Given the description of an element on the screen output the (x, y) to click on. 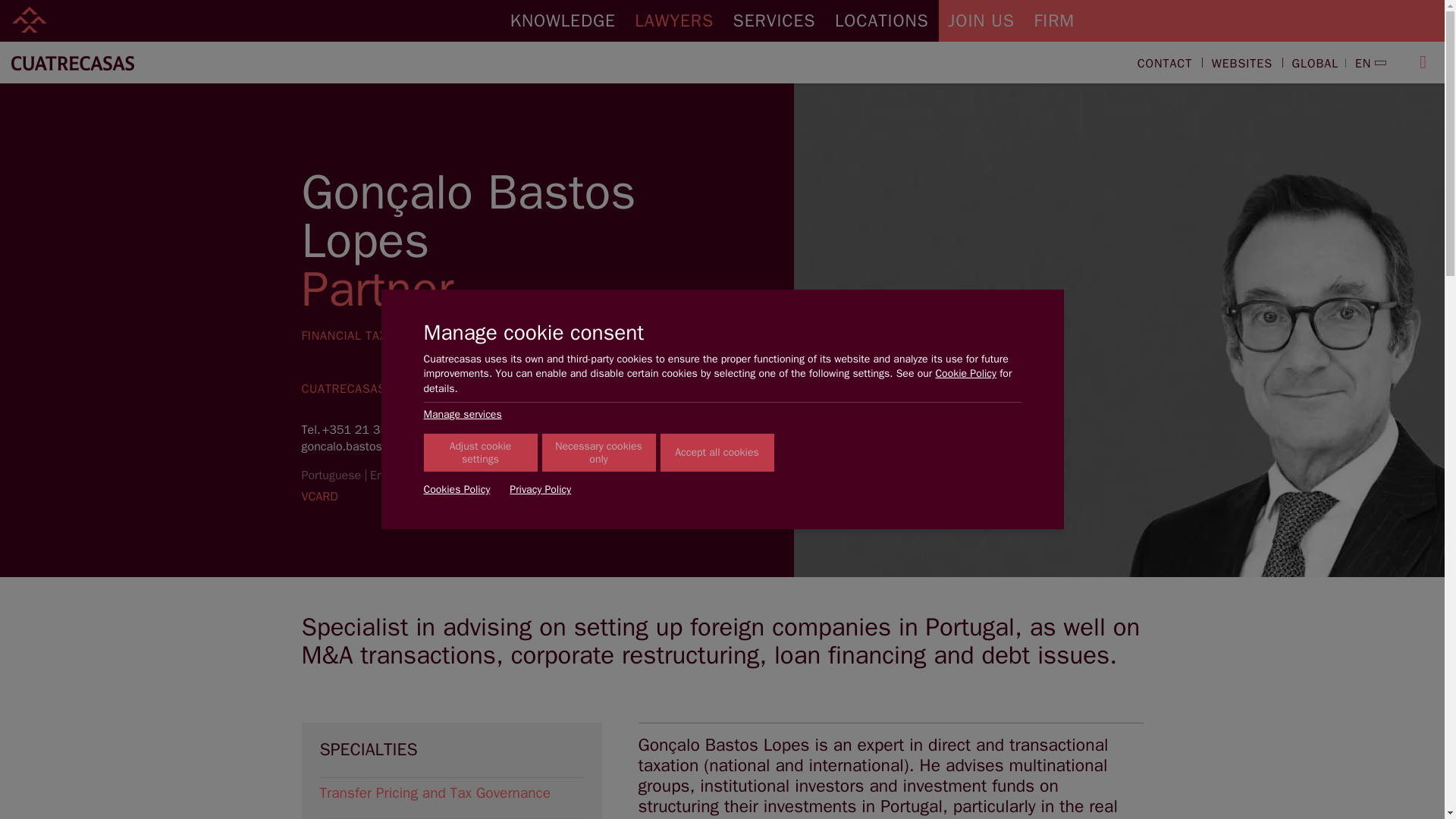
LAWYERS (674, 20)
GLOBAL EN (1331, 63)
FIRM (1054, 20)
JOIN US (982, 20)
KNOWLEDGE (563, 20)
SERVICES (774, 20)
WEBSITES (1241, 63)
CONTACT (1164, 63)
LOCATIONS (881, 20)
